Given the description of an element on the screen output the (x, y) to click on. 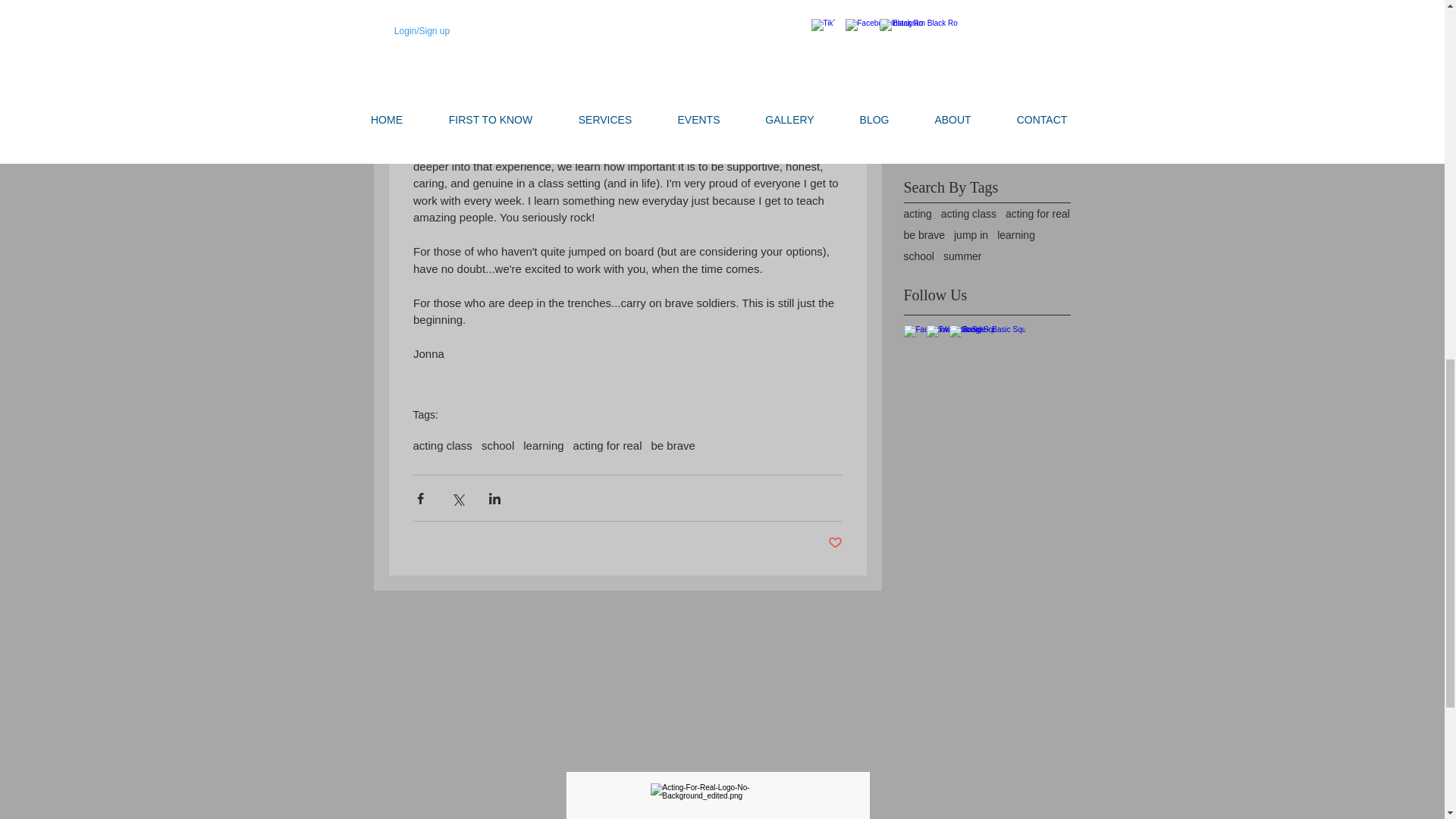
learning (542, 445)
acting class (441, 445)
SUMMER IS HERE! Carry on. (1020, 12)
school (497, 445)
acting (917, 214)
Post not marked as liked (835, 543)
acting for real (607, 445)
be brave (672, 445)
